Given the description of an element on the screen output the (x, y) to click on. 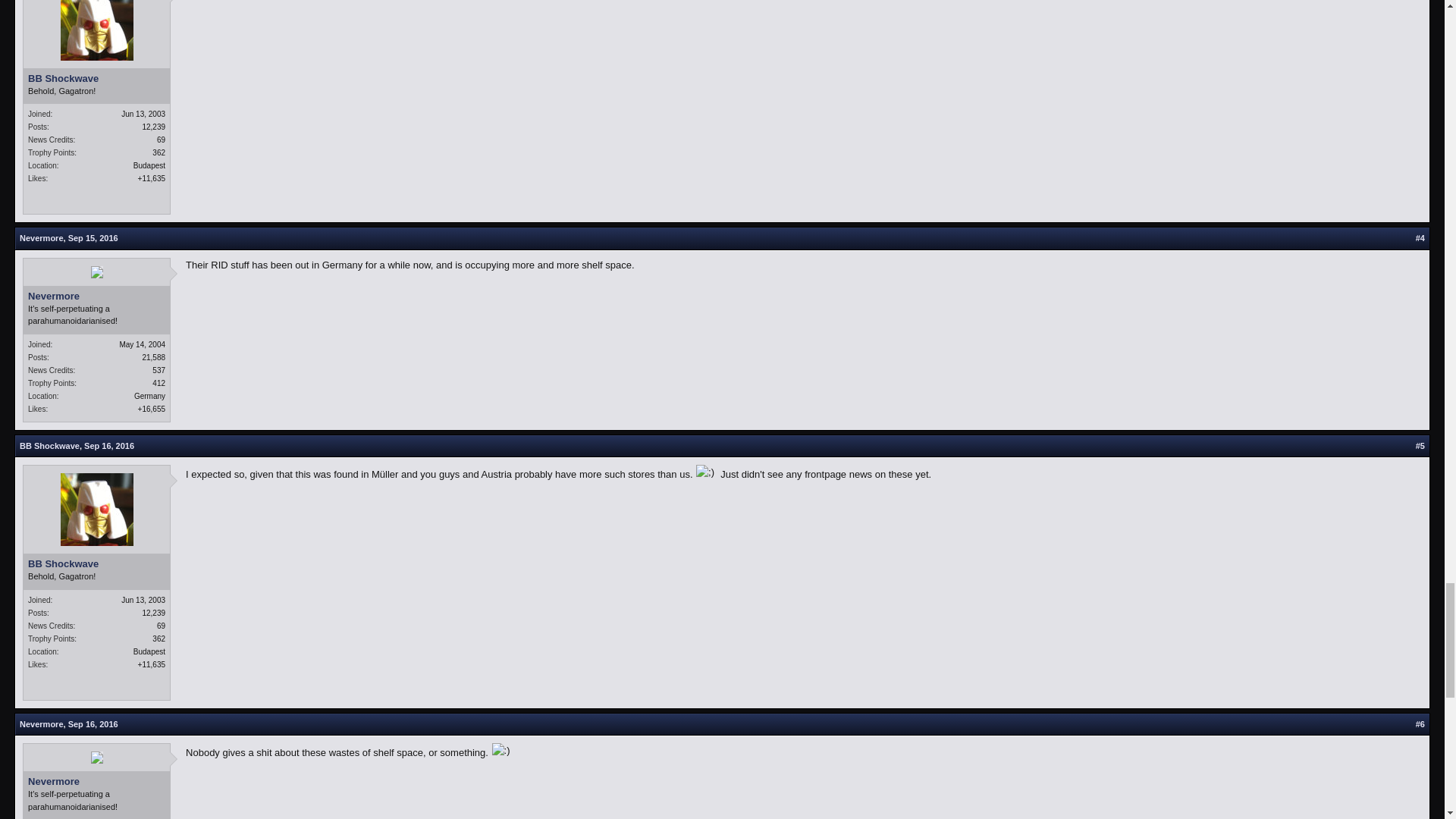
Permalink (108, 445)
Permalink (92, 723)
Permalink (92, 237)
